Given the description of an element on the screen output the (x, y) to click on. 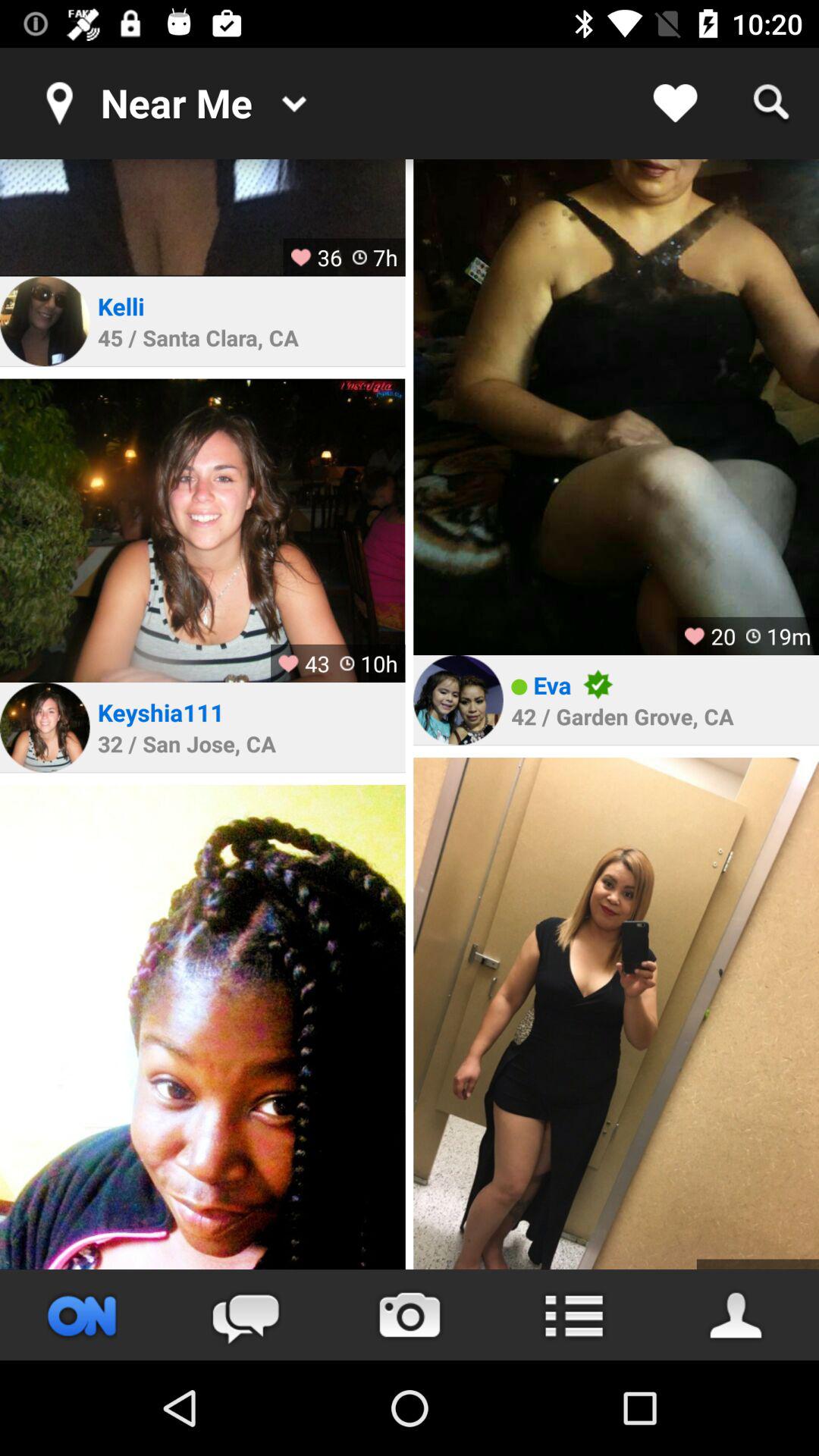
go to user profile (44, 727)
